Given the description of an element on the screen output the (x, y) to click on. 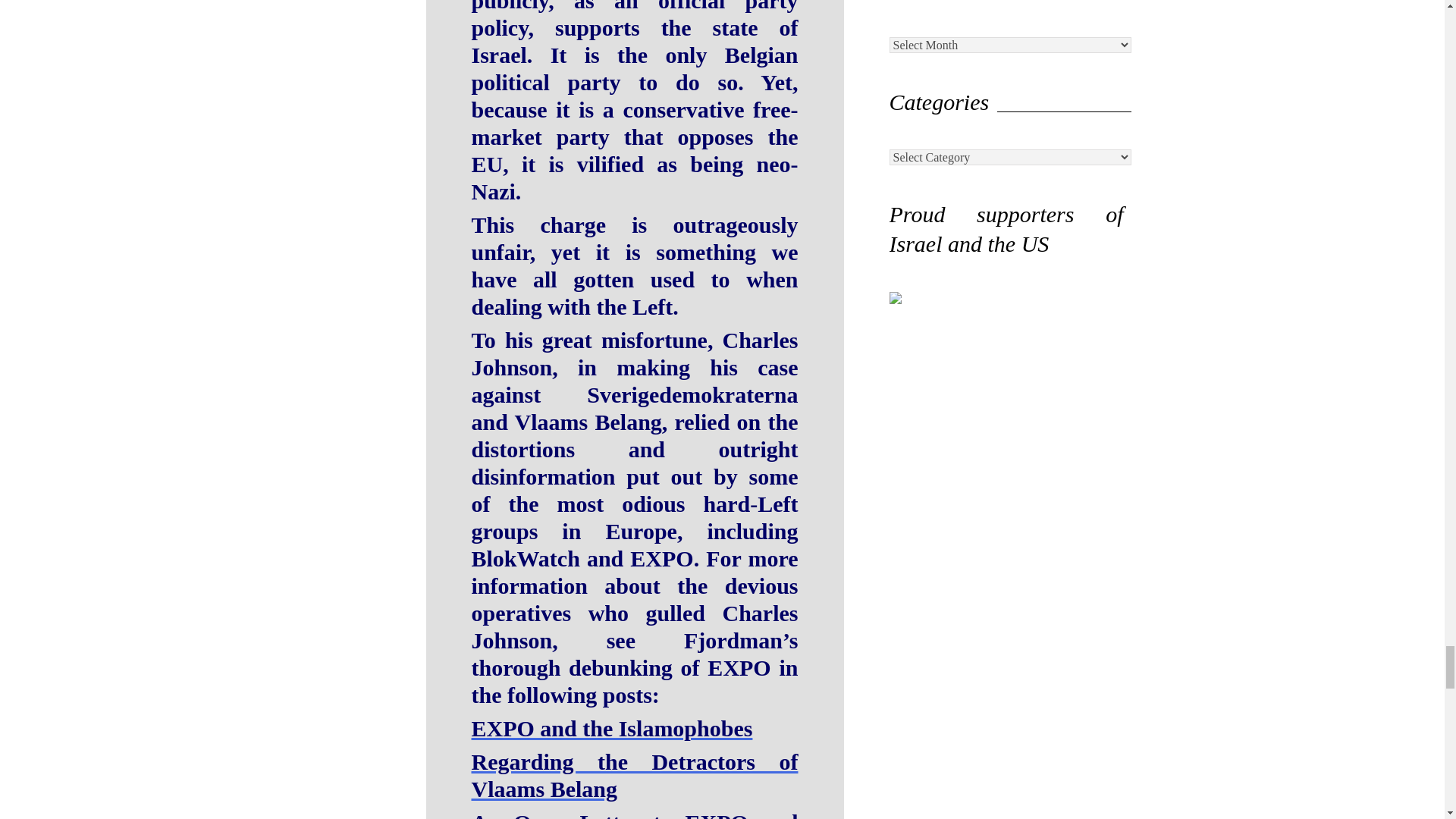
Regarding the Detractors of Vlaams Belang (634, 775)
EXPO and the Islamophobes (611, 728)
An Open Letter to EXPO and Expressen (634, 814)
